Given the description of an element on the screen output the (x, y) to click on. 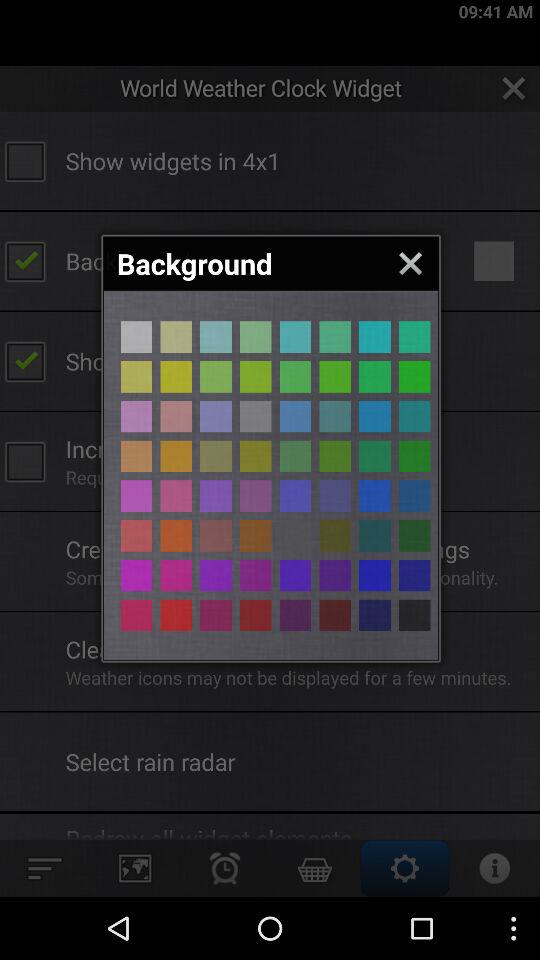
choose that color (136, 336)
